Given the description of an element on the screen output the (x, y) to click on. 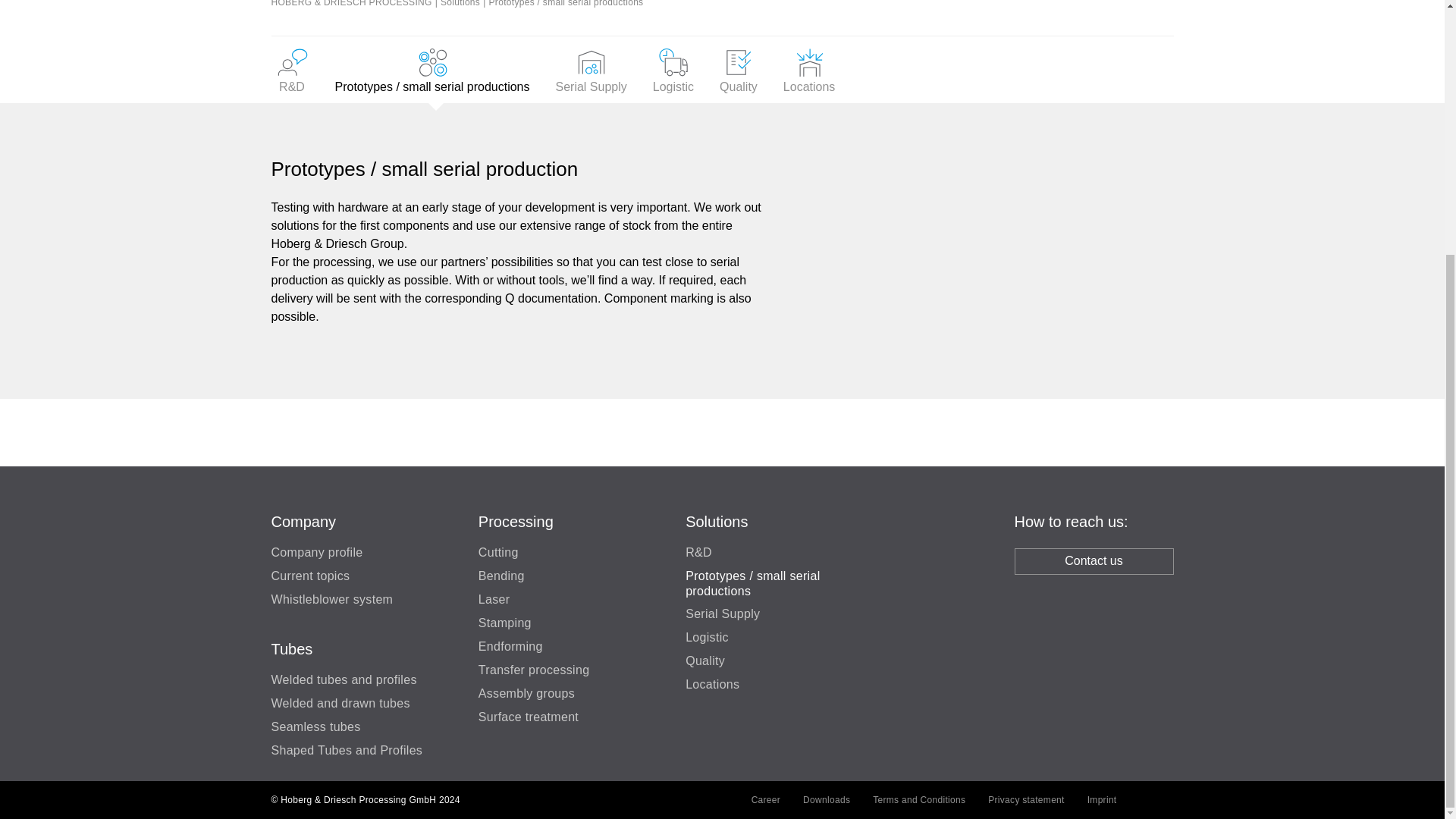
Cutting (498, 551)
Surface treatment (528, 715)
Locations (809, 69)
Serial Supply (590, 69)
Bending (501, 575)
Current topics (310, 575)
Company profile (316, 551)
Stamping (505, 621)
Solutions (716, 521)
To the product group Seamless tubes (315, 725)
Shaped Tubes and Profiles (346, 749)
Whistleblower system (331, 598)
Company (303, 521)
Processing (516, 521)
Tubes (291, 649)
